Given the description of an element on the screen output the (x, y) to click on. 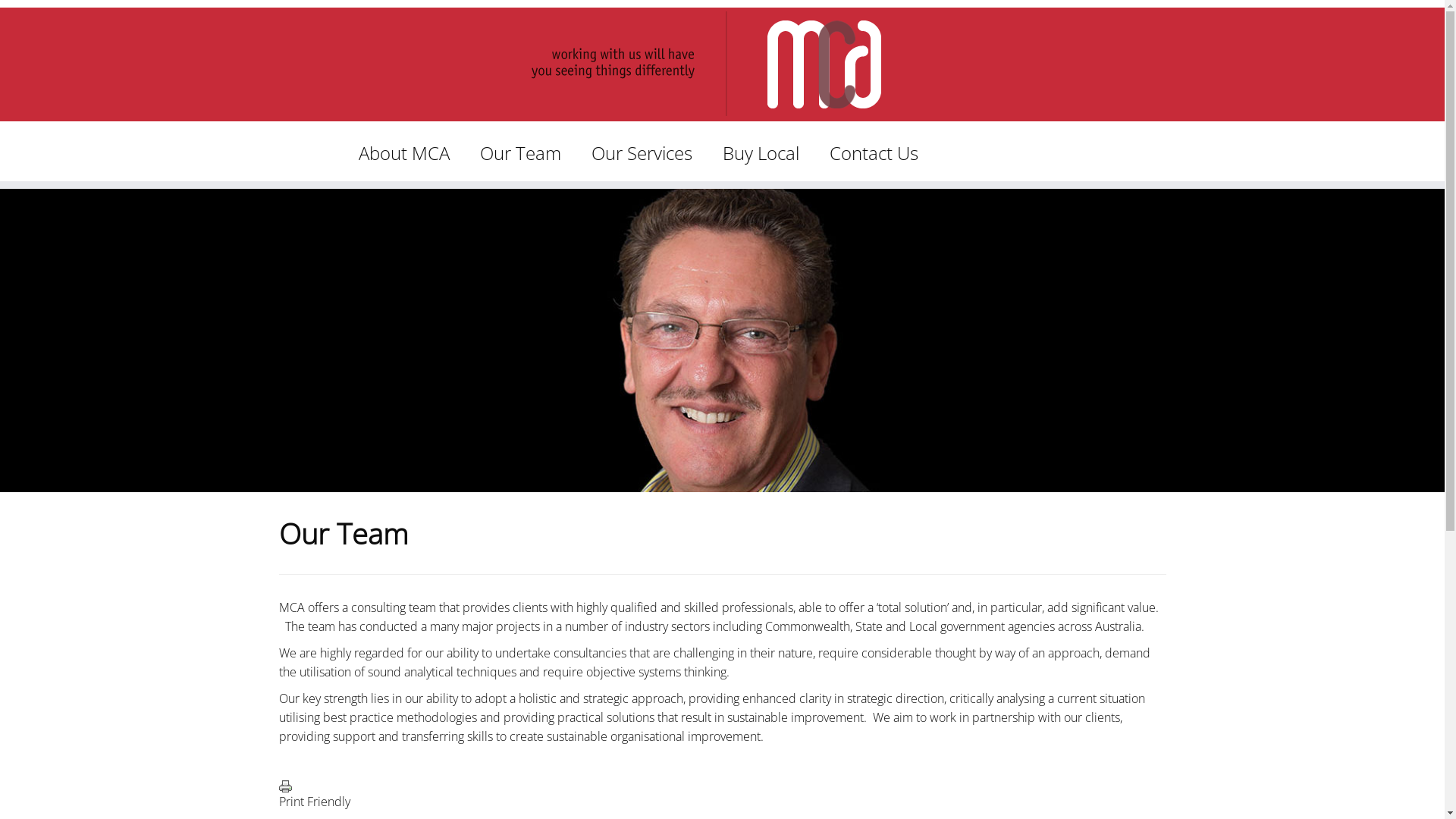
Print Friendly Element type: hover (285, 786)
Our Team Element type: text (519, 152)
Buy Local Element type: text (759, 152)
Contact Us Element type: text (873, 152)
Management Consulting Alliance |  Element type: hover (722, 64)
About MCA Element type: text (409, 152)
Our Services Element type: text (641, 152)
